Given the description of an element on the screen output the (x, y) to click on. 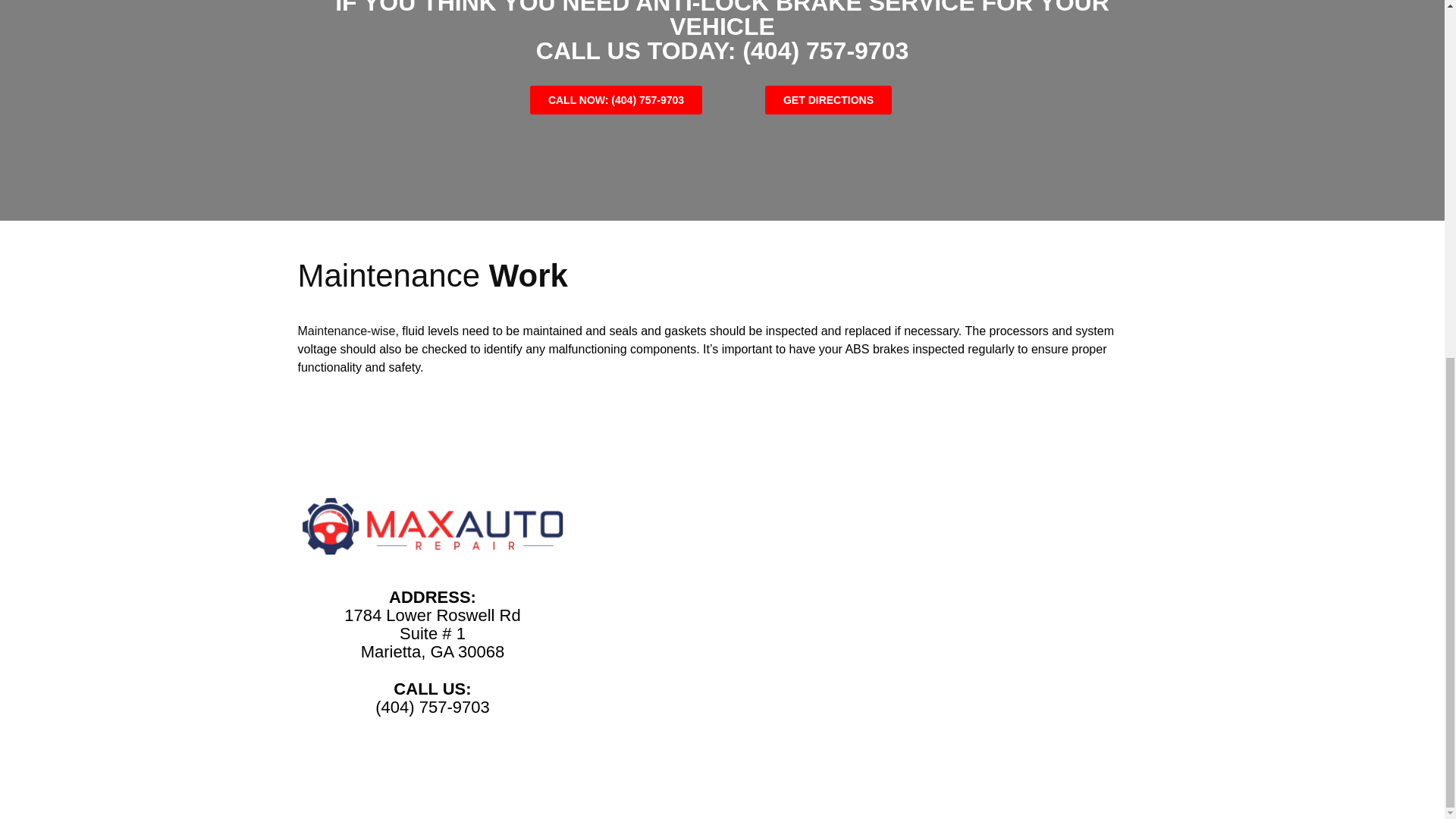
Contact Form (864, 543)
Maintenance-wise (345, 330)
GET DIRECTIONS (828, 99)
